Given the description of an element on the screen output the (x, y) to click on. 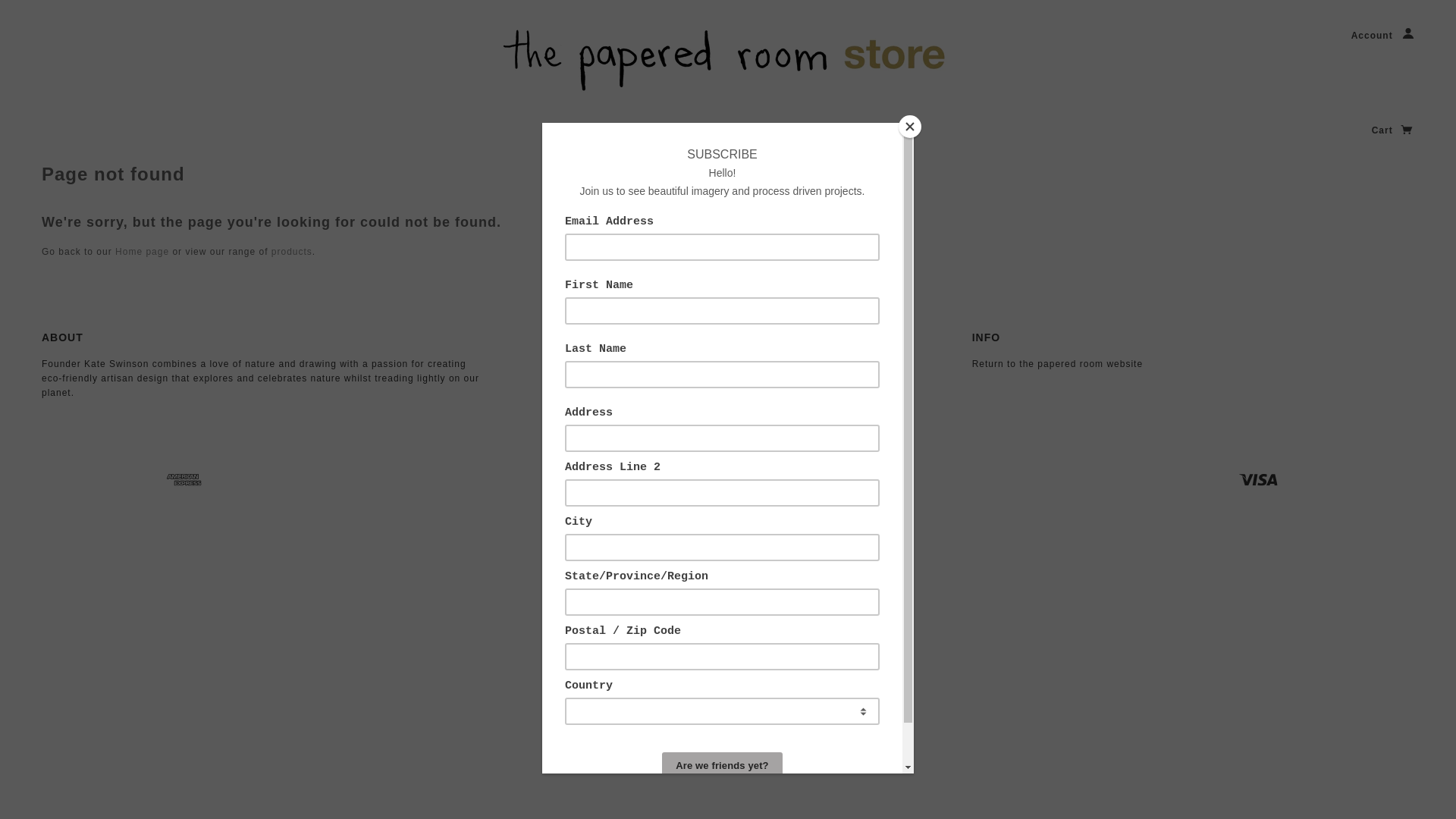
Account Element type: text (1382, 35)
Native Swinson Element type: hover (727, 60)
Cart Element type: text (1392, 130)
Home page Element type: text (142, 251)
Return to the papered room website Element type: text (1057, 363)
products Element type: text (291, 251)
